Given the description of an element on the screen output the (x, y) to click on. 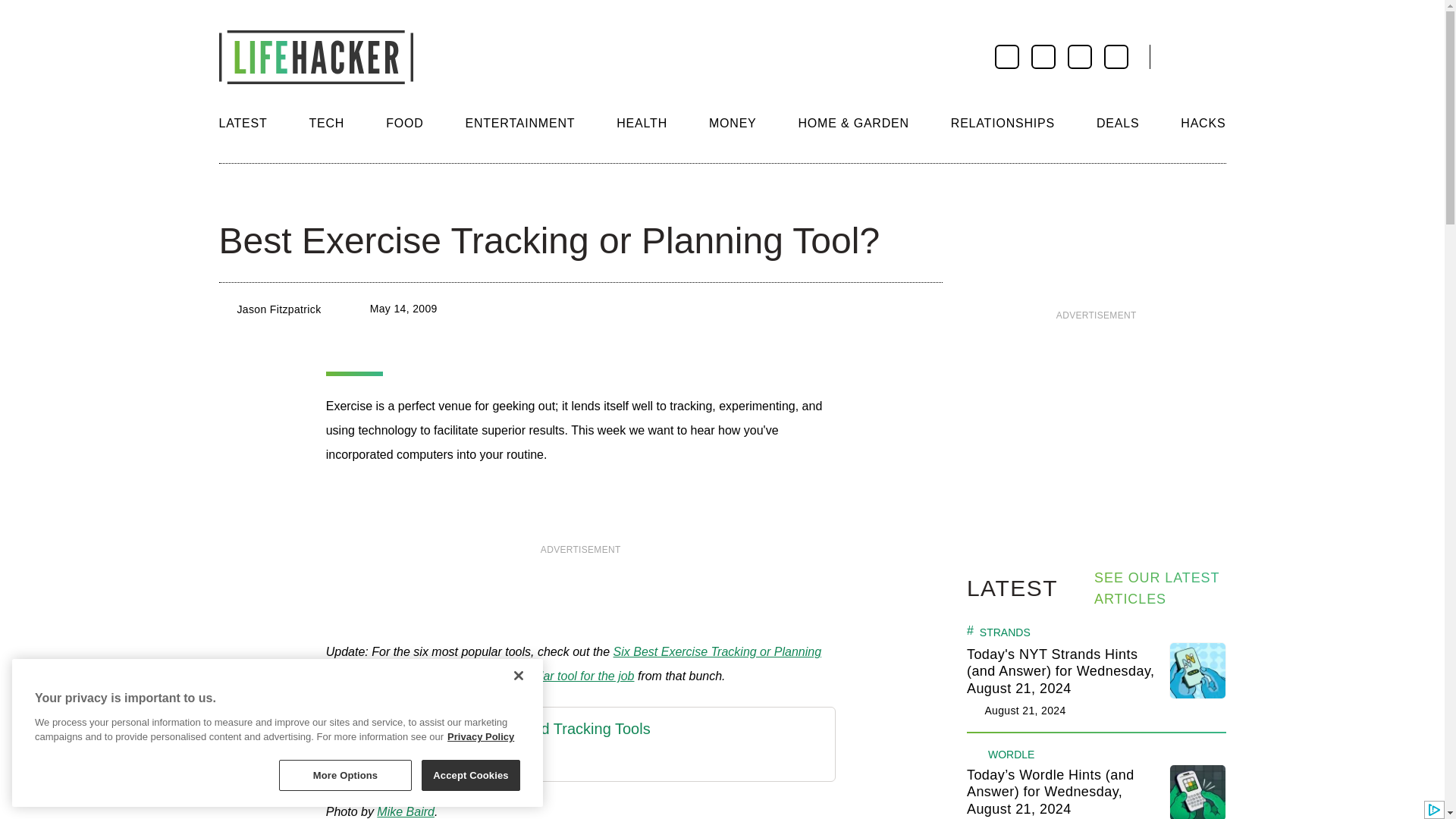
open in a new window (548, 675)
open in a new window (573, 663)
FOOD (404, 123)
open in a new window (494, 760)
HACKS (1202, 123)
Jason Fitzpatrick (277, 309)
DEALS (1117, 123)
TECH (325, 123)
RELATIONSHIPS (1002, 123)
LATEST (242, 123)
